Given the description of an element on the screen output the (x, y) to click on. 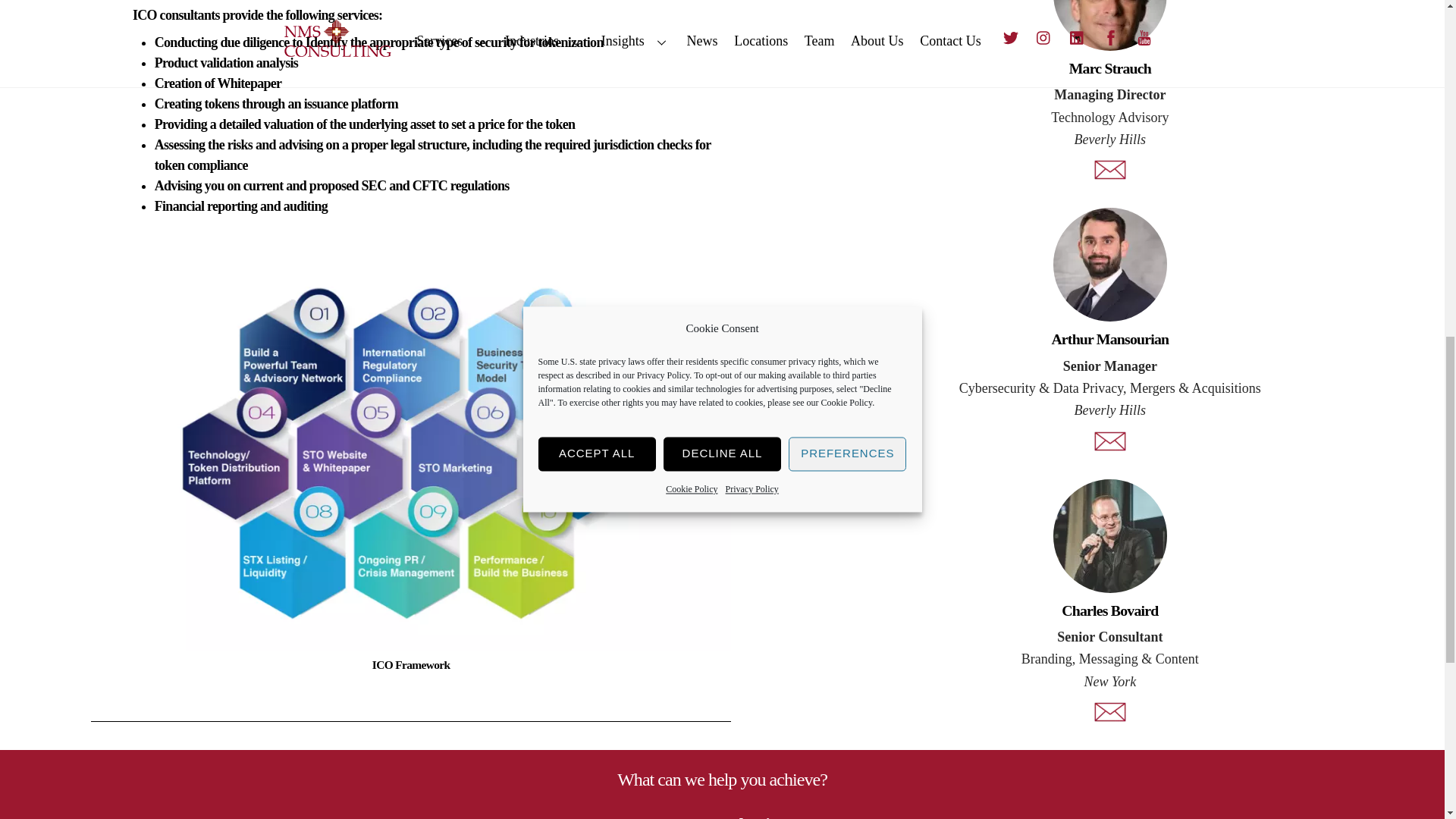
Marc Strauch (1109, 25)
email (1109, 441)
Charles Bovaird (1109, 535)
email (1109, 169)
Arthur Mansourian (1109, 264)
email (1109, 711)
